Given the description of an element on the screen output the (x, y) to click on. 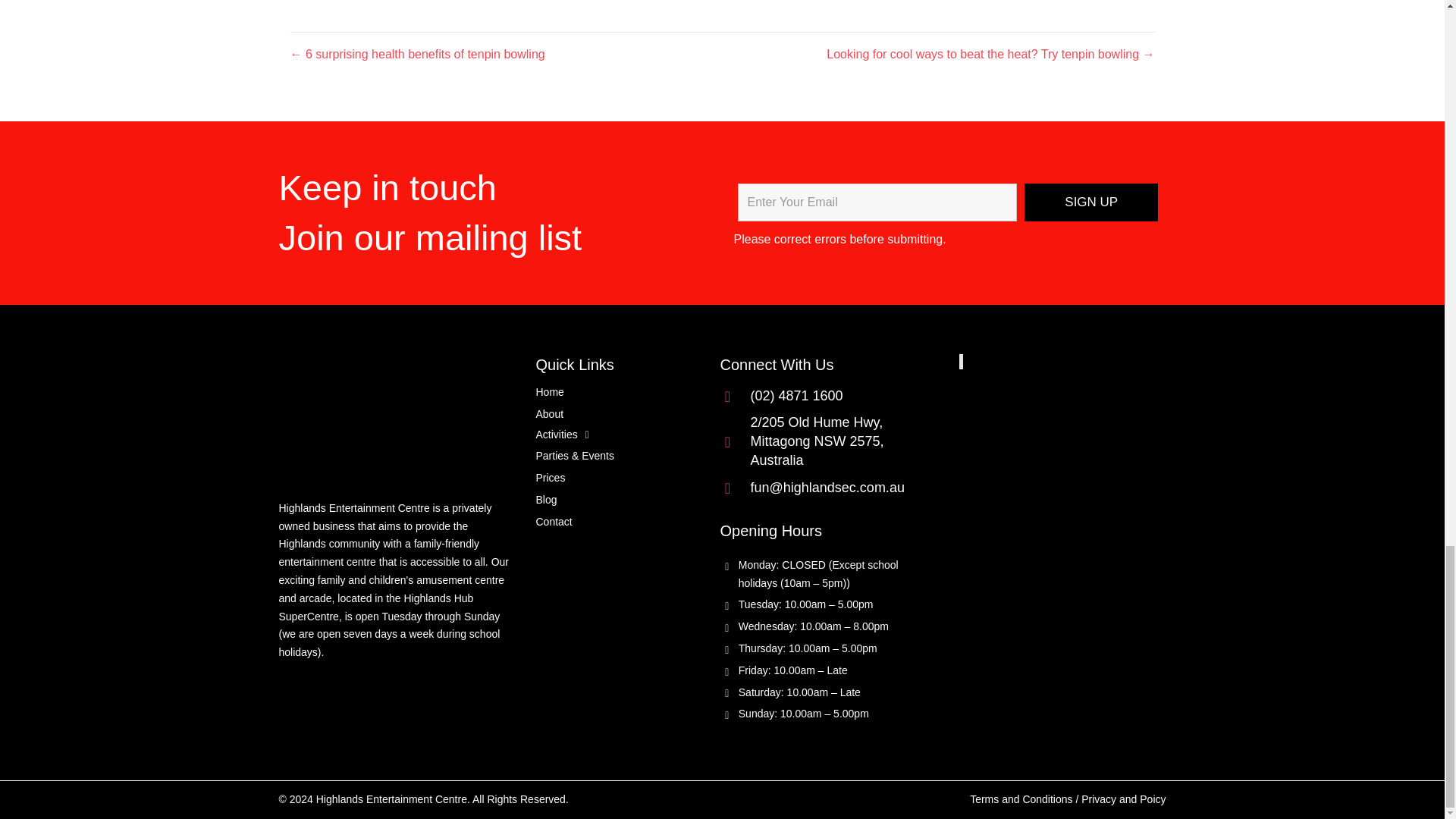
Sign Up (1091, 202)
